Given the description of an element on the screen output the (x, y) to click on. 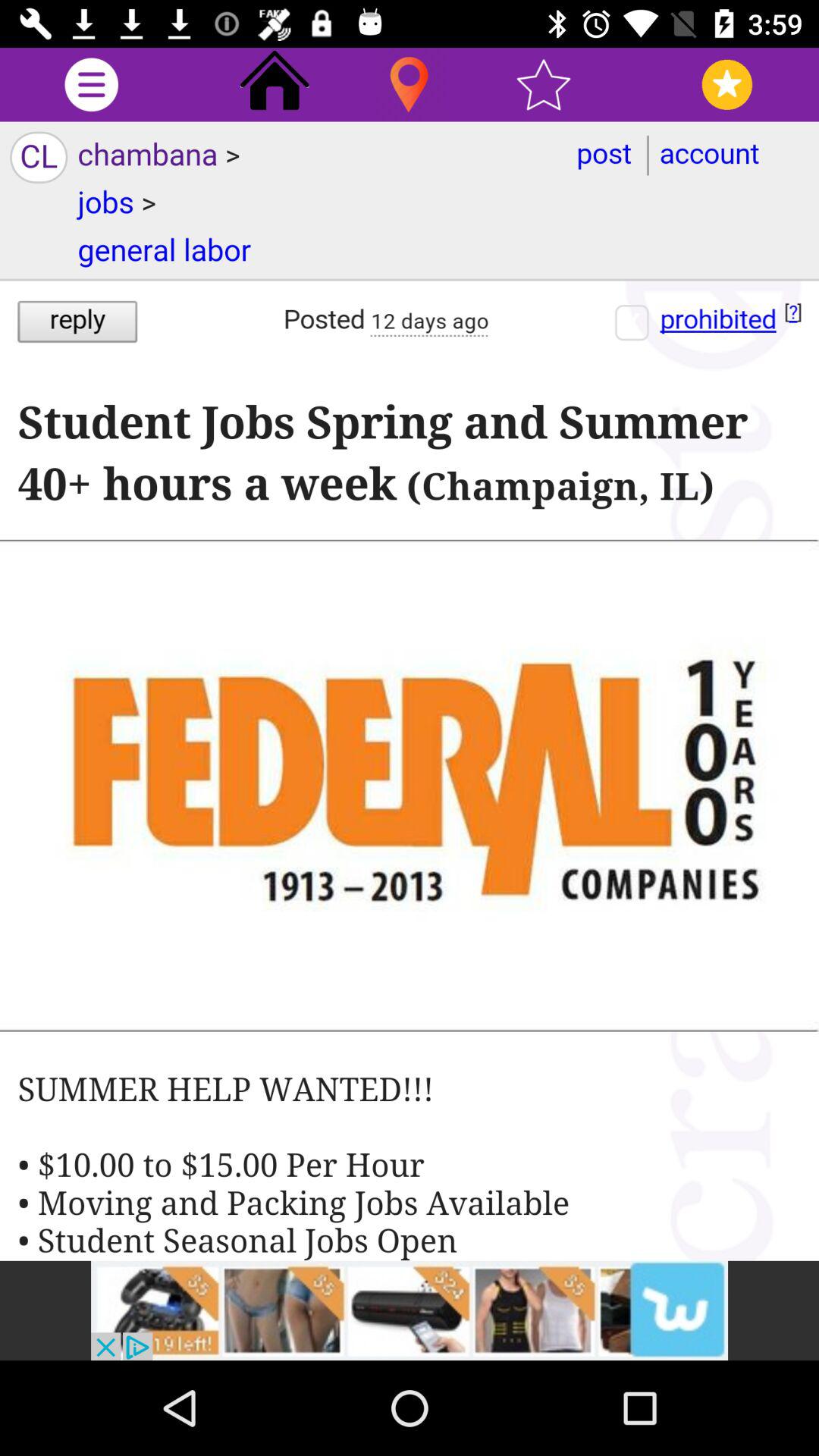
place button (409, 84)
